Given the description of an element on the screen output the (x, y) to click on. 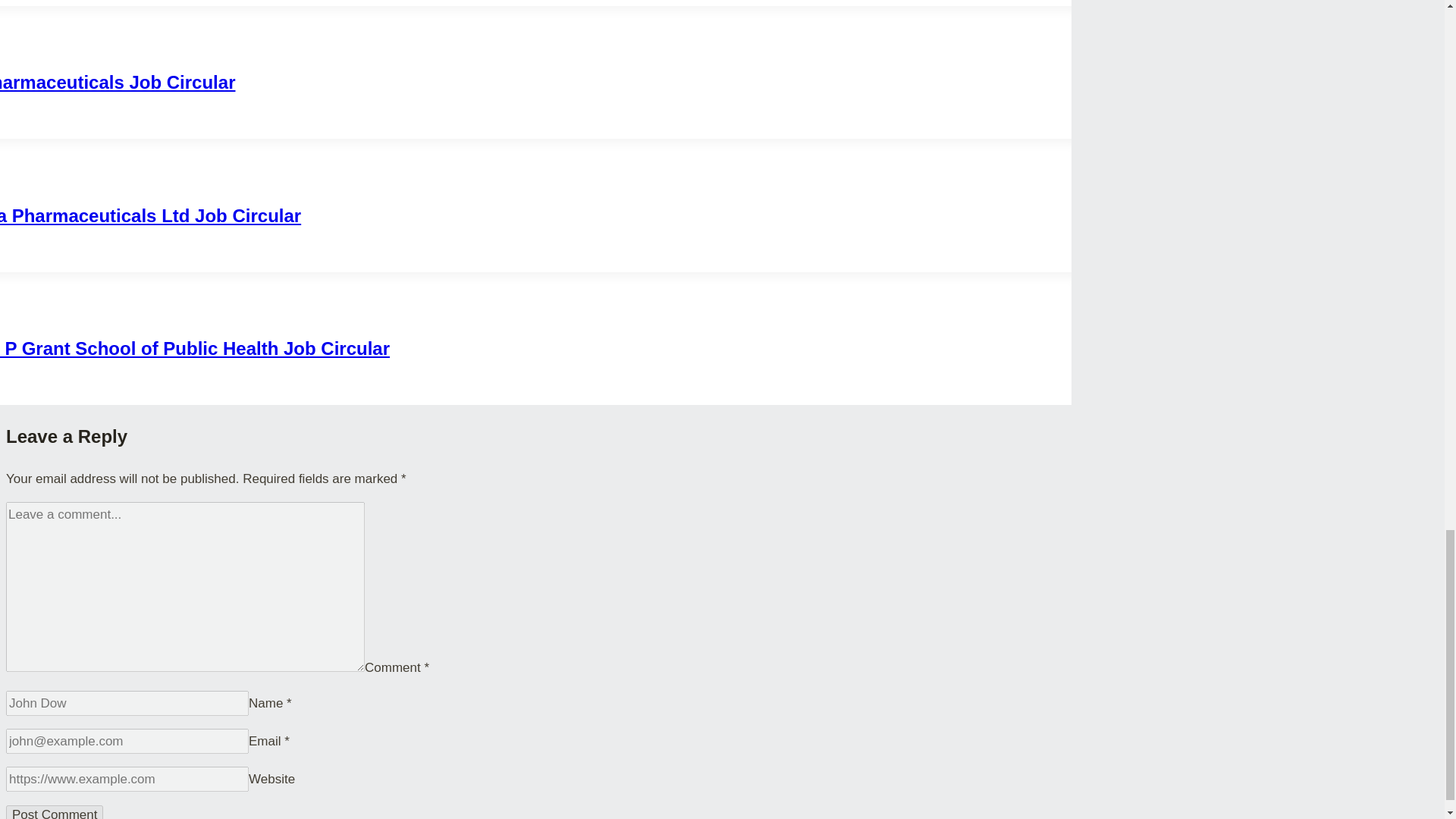
James P Grant School of Public Health Job Circular (195, 348)
Incepta Pharmaceuticals Ltd Job Circular (150, 215)
ACI Pharmaceuticals Job Circular (117, 82)
